Given the description of an element on the screen output the (x, y) to click on. 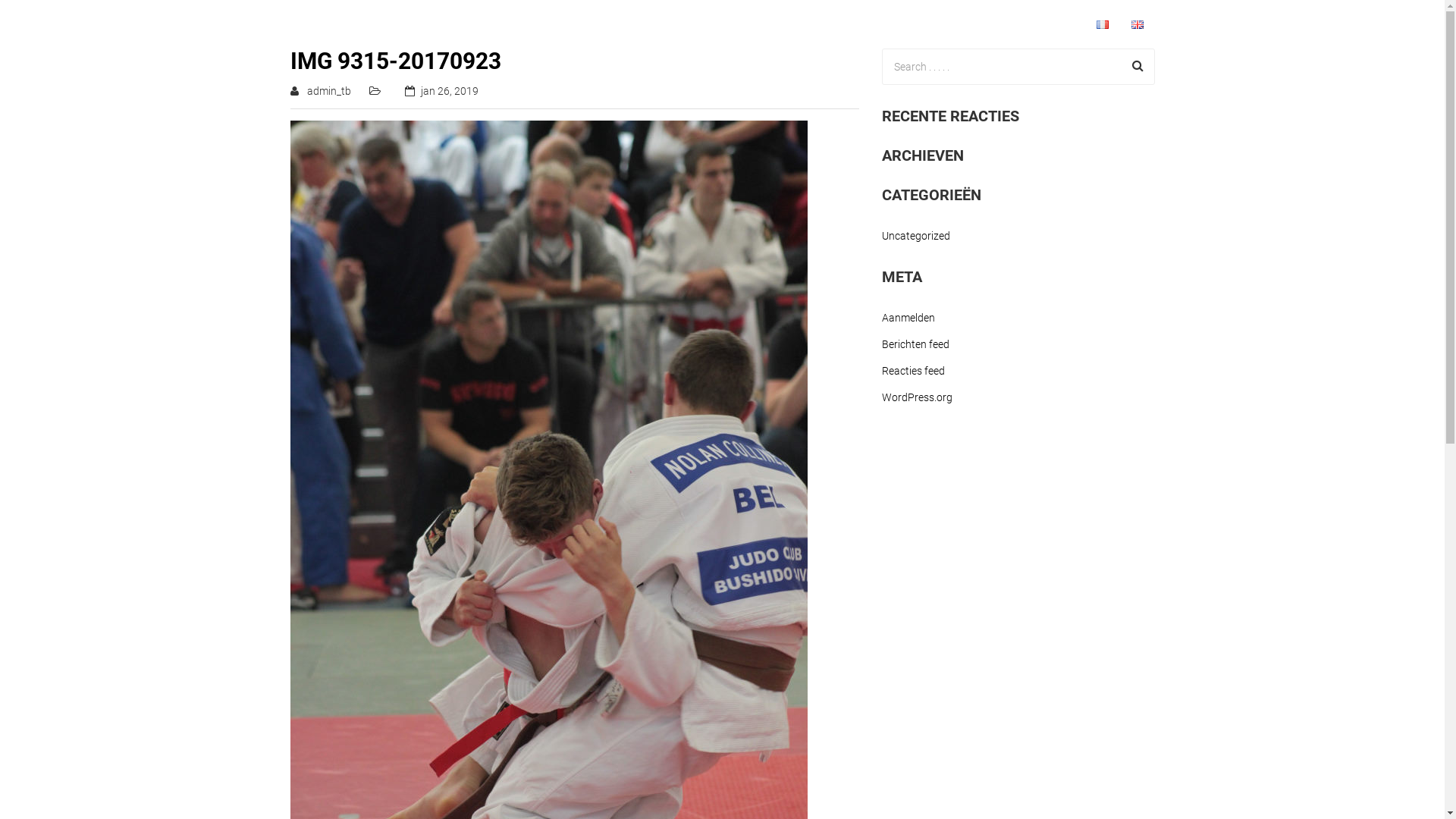
ORGANISATIE Element type: text (951, 23)
IMG 9315-20170923 Element type: text (394, 60)
Berichten feed Element type: text (914, 344)
Uncategorized Element type: text (915, 235)
WordPress.org Element type: text (916, 395)
PARKING Element type: text (1044, 23)
Aanmelden Element type: text (907, 319)
RESULTATEN Element type: text (839, 23)
HOME Element type: text (749, 23)
Reacties feed Element type: text (912, 370)
admin_tb Element type: text (328, 90)
